Given the description of an element on the screen output the (x, y) to click on. 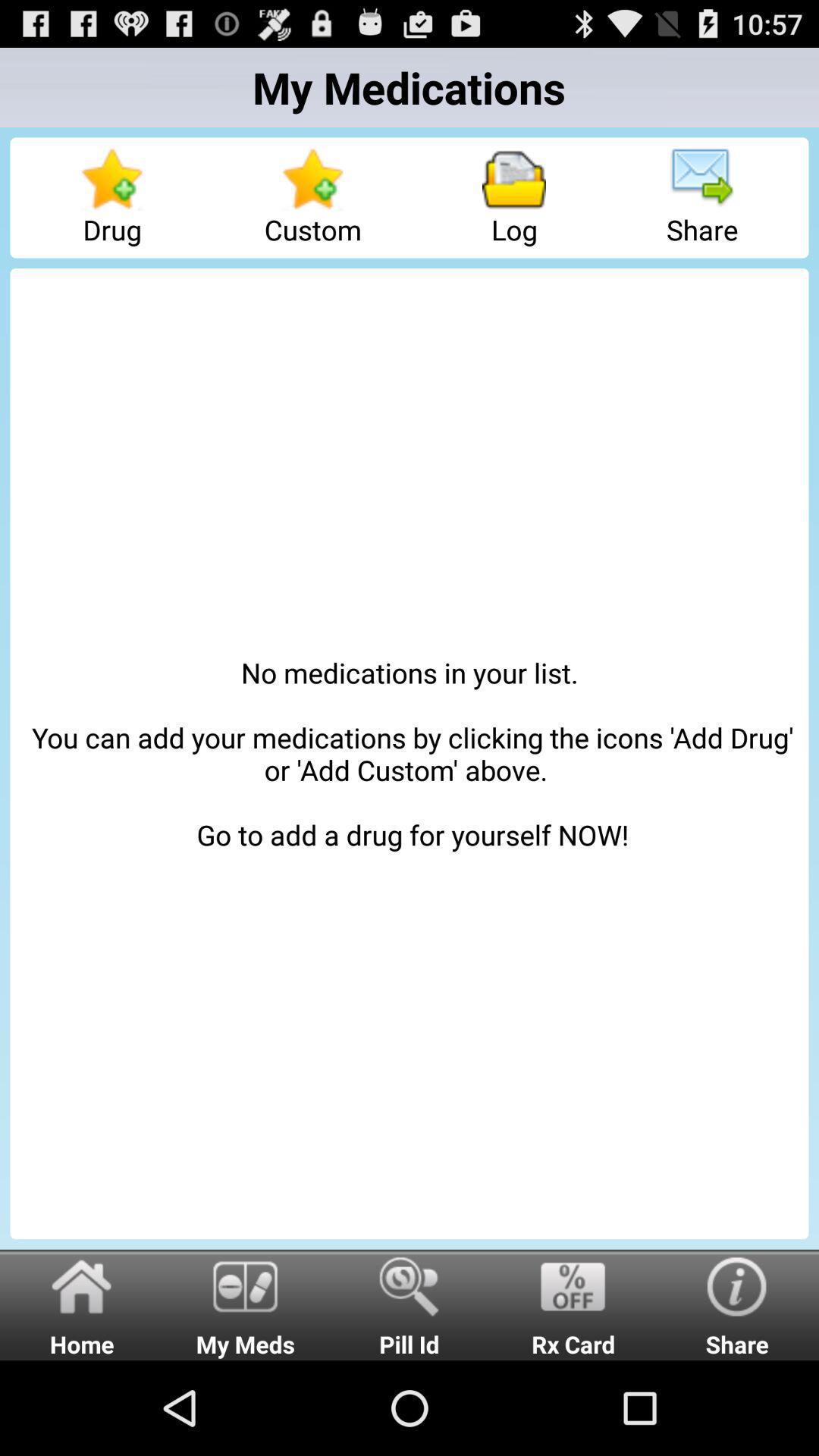
scroll to the rx card radio button (573, 1304)
